Given the description of an element on the screen output the (x, y) to click on. 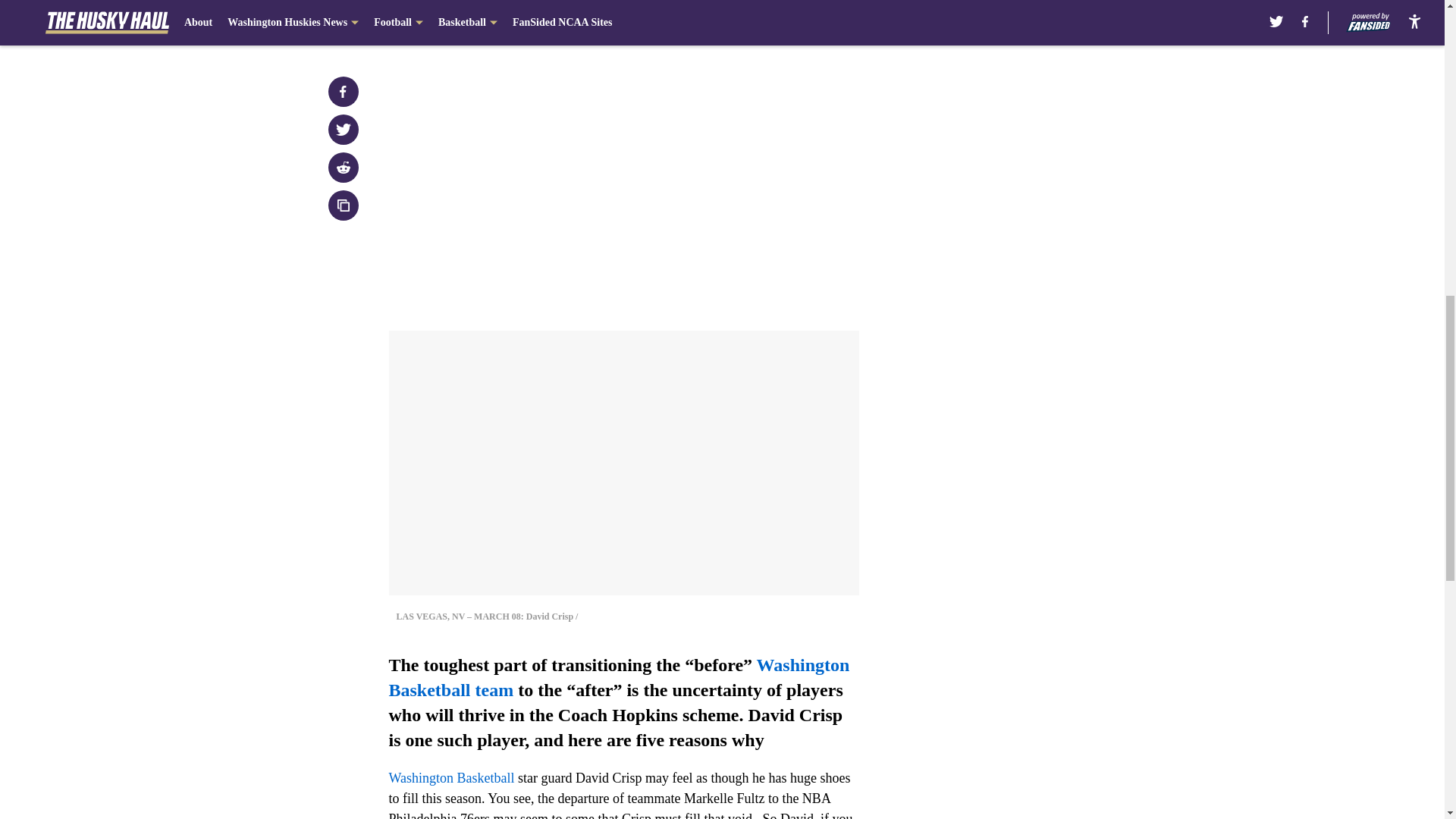
Washington Basketball (450, 777)
Prev (433, 20)
Washington Basketball team (618, 677)
Next (813, 20)
